Given the description of an element on the screen output the (x, y) to click on. 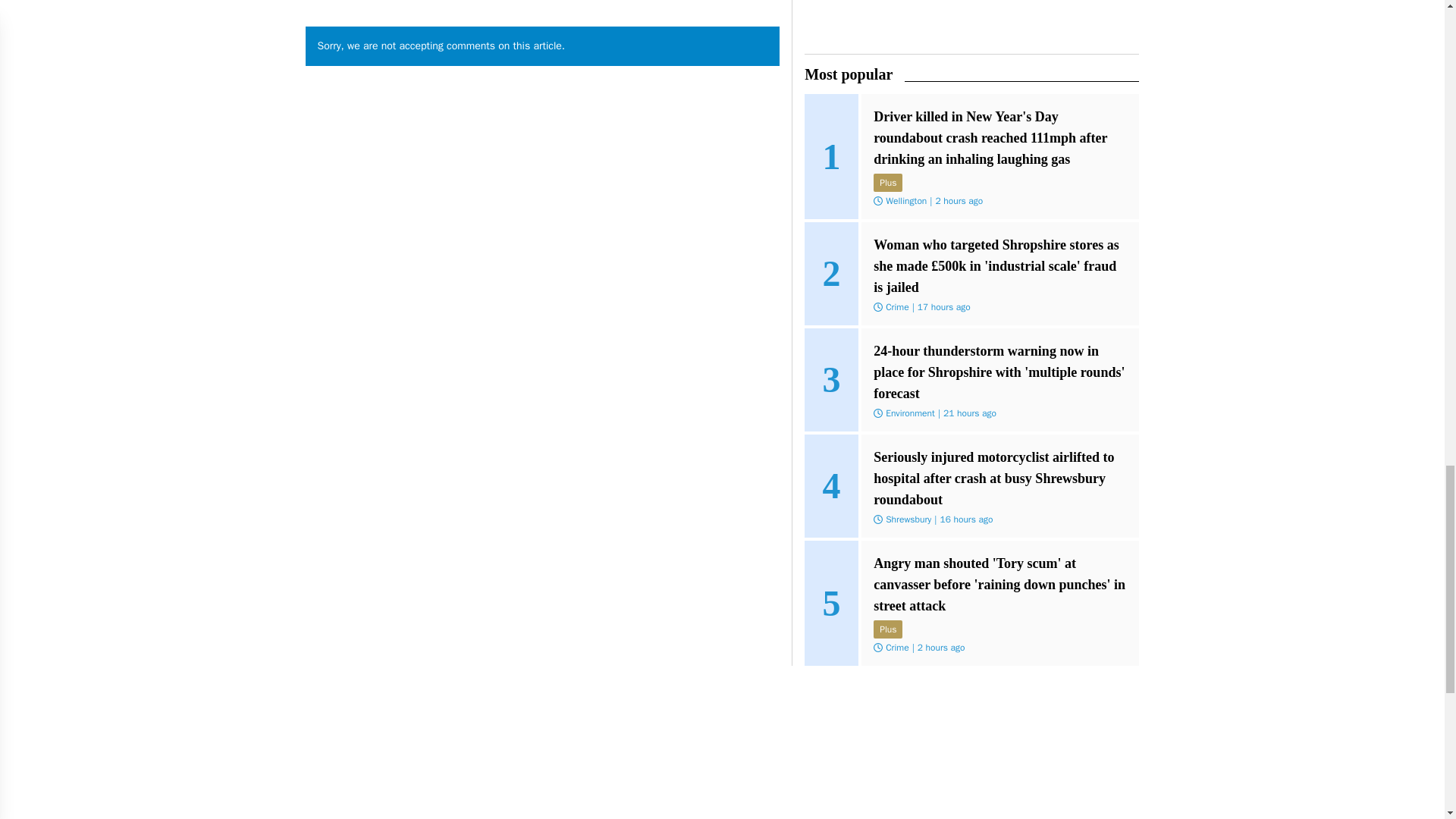
Shrewsbury (908, 437)
Shrewsbury Town FC (925, 330)
Wolves (899, 117)
Craven Arms (910, 32)
Shrewsbury (908, 224)
